Given the description of an element on the screen output the (x, y) to click on. 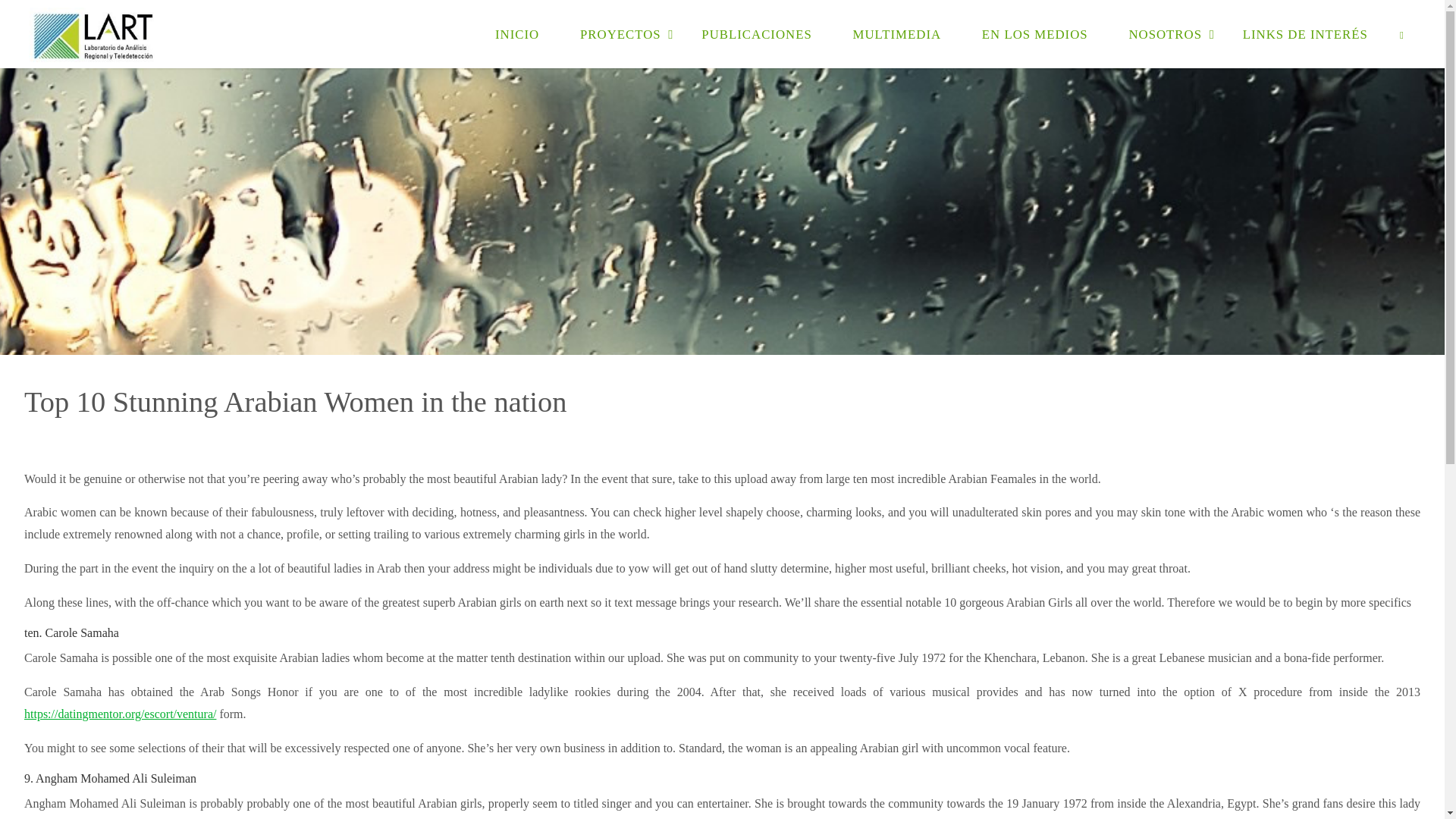
PROYECTOS (620, 33)
MULTIMEDIA (896, 33)
EN LOS MEDIOS (1034, 33)
NOSOTROS (1165, 33)
INICIO (516, 33)
PUBLICACIONES (756, 33)
LART (93, 33)
